Given the description of an element on the screen output the (x, y) to click on. 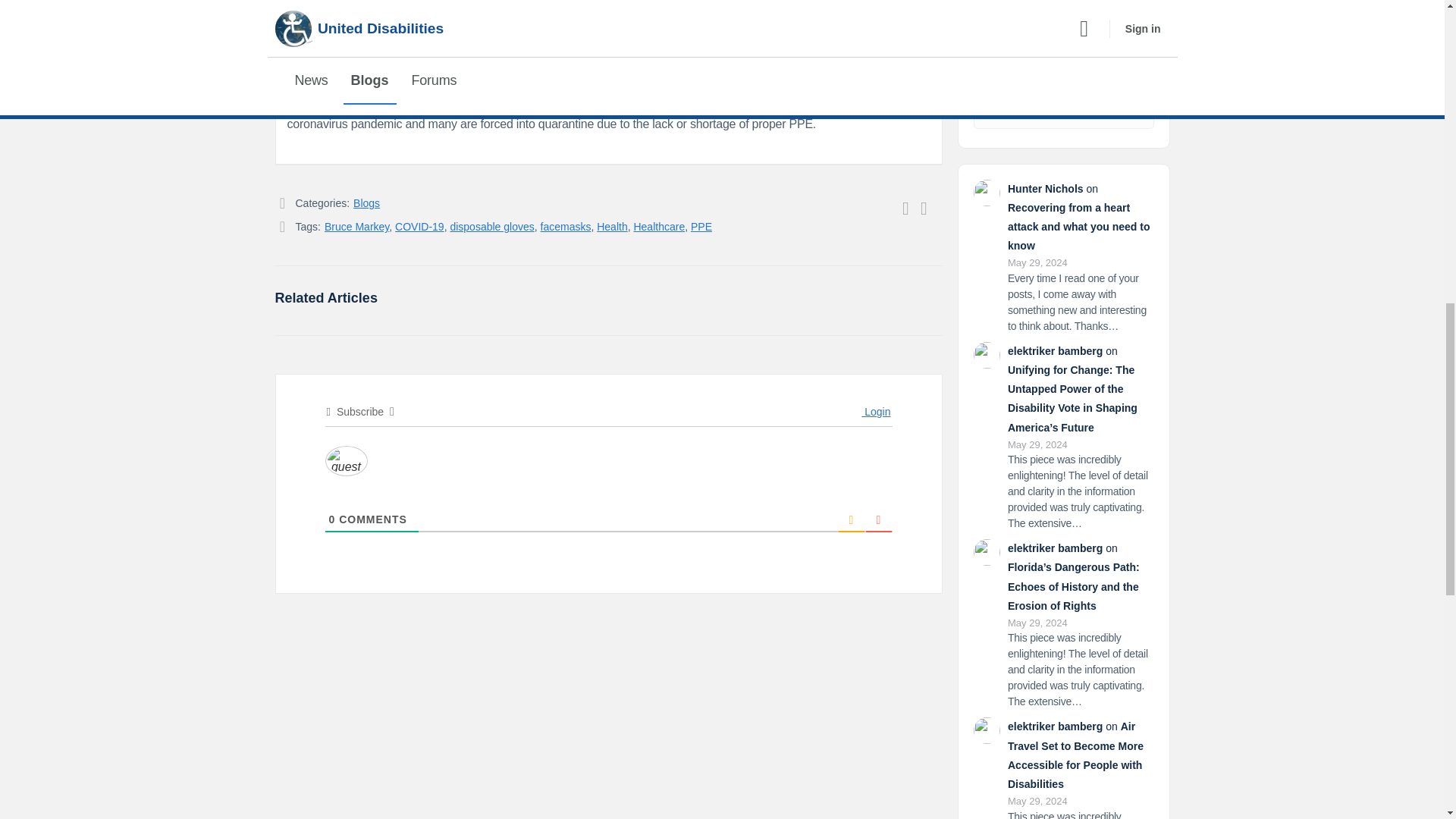
Blogs (366, 203)
Health (611, 226)
PPE (700, 226)
facemasks (565, 226)
COVID-19 (419, 226)
Bruce Markey (356, 226)
Healthcare (658, 226)
disposable gloves (491, 226)
